Given the description of an element on the screen output the (x, y) to click on. 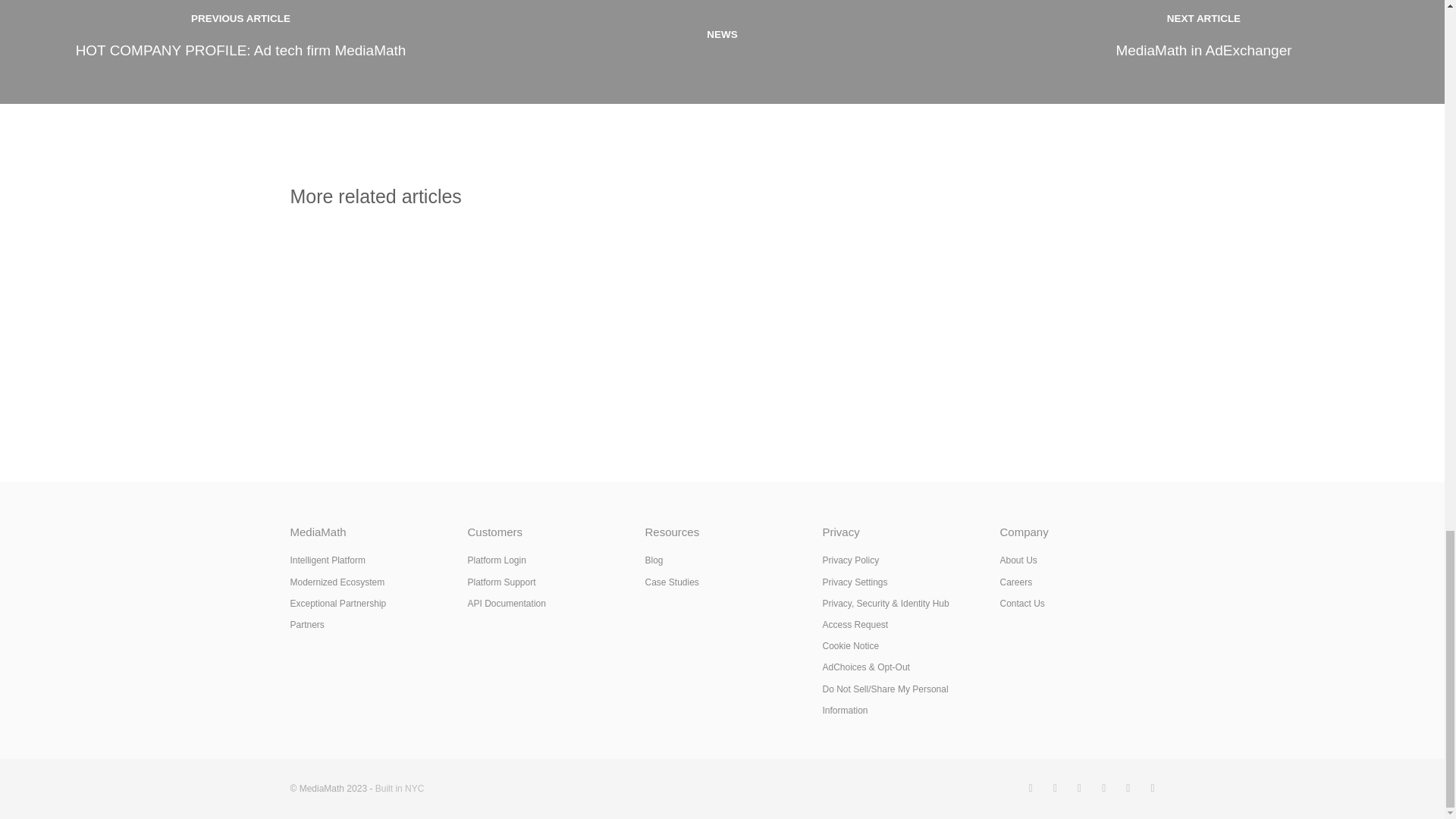
NEWS (240, 52)
Intelligent Platform (721, 52)
Modernized Ecosystem (1203, 52)
